Given the description of an element on the screen output the (x, y) to click on. 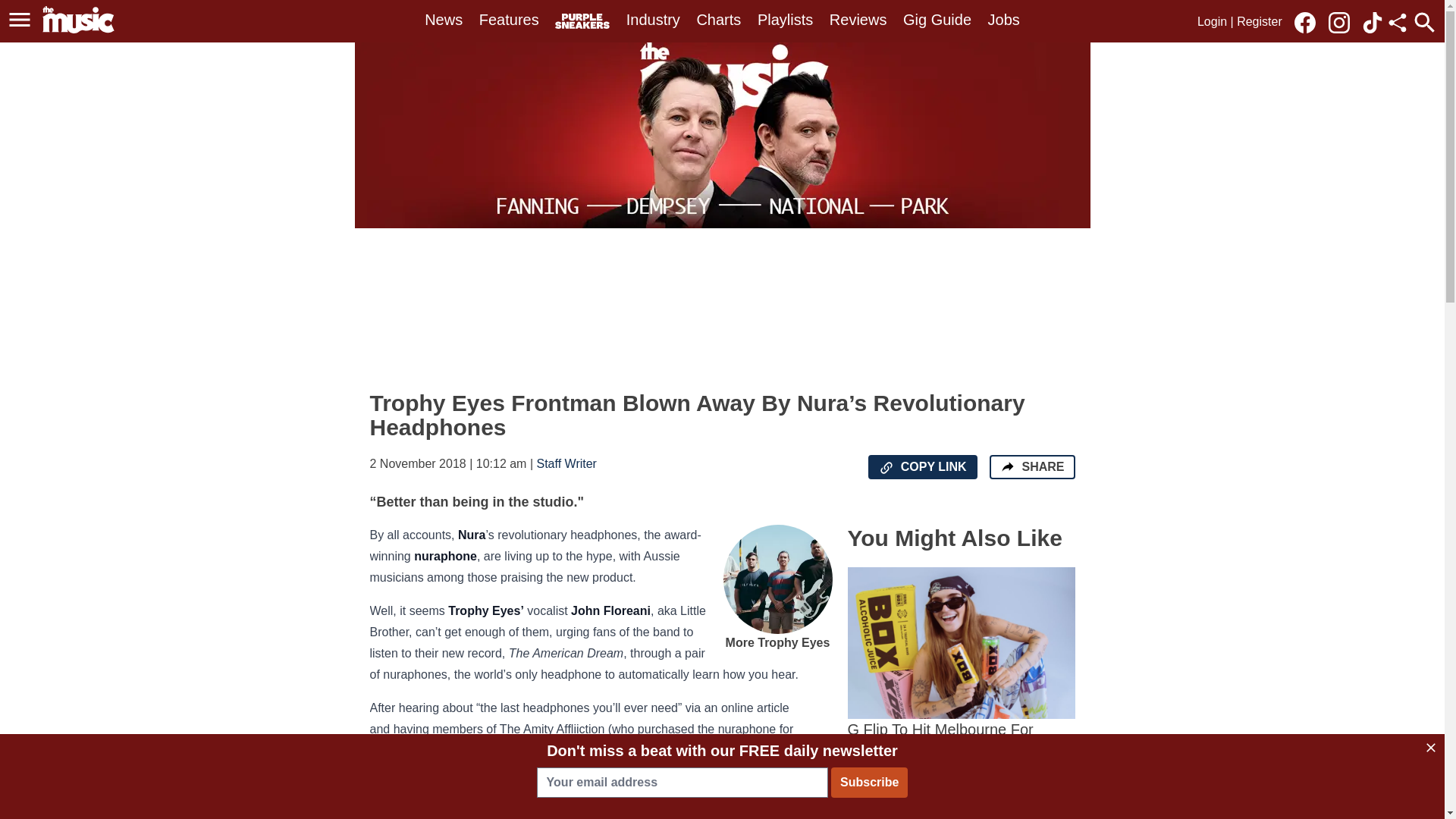
Jobs (1004, 19)
Share this page (1397, 22)
Login (1211, 21)
Staff Writer (566, 463)
Register (1259, 21)
Link to our TikTok (1372, 22)
Charts (718, 19)
Link to our TikTok (1372, 21)
Copy the page URL (886, 467)
Open the site search menu (1424, 22)
Features (508, 19)
Reviews (857, 19)
Copy the page URL COPY LINK (921, 467)
Open the main menu (19, 19)
Link to our Instagram (1342, 21)
